Given the description of an element on the screen output the (x, y) to click on. 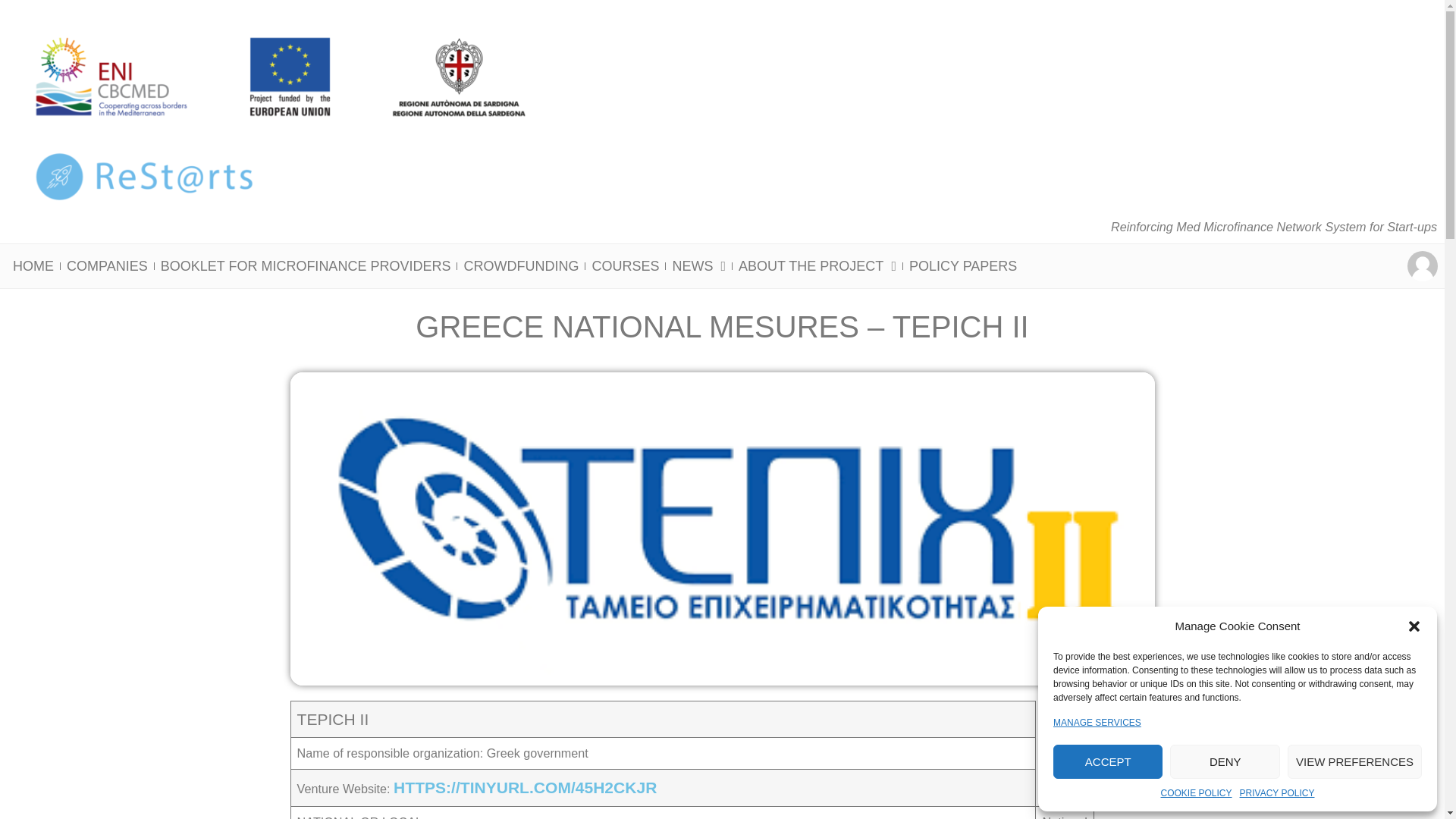
DENY (1224, 761)
MANAGE SERVICES (1096, 722)
COURSES (625, 265)
VIEW PREFERENCES (1354, 761)
TEPICH II (333, 719)
BOOKLET FOR MICROFINANCE PROVIDERS (305, 265)
COMPANIES (107, 265)
NEWS (698, 265)
HOME (33, 265)
Quick Menu (1422, 265)
